Given the description of an element on the screen output the (x, y) to click on. 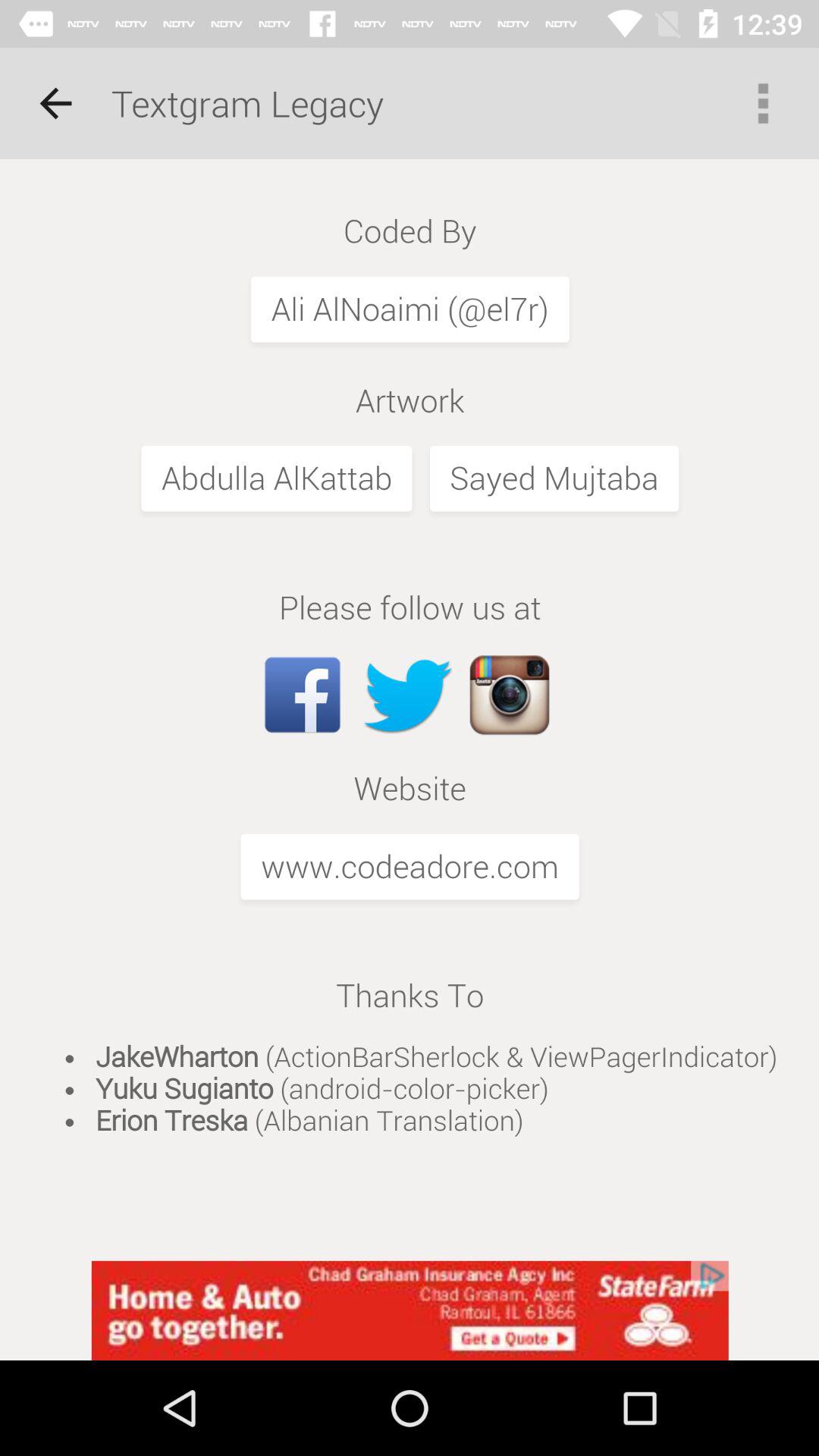
select the image (409, 709)
